Given the description of an element on the screen output the (x, y) to click on. 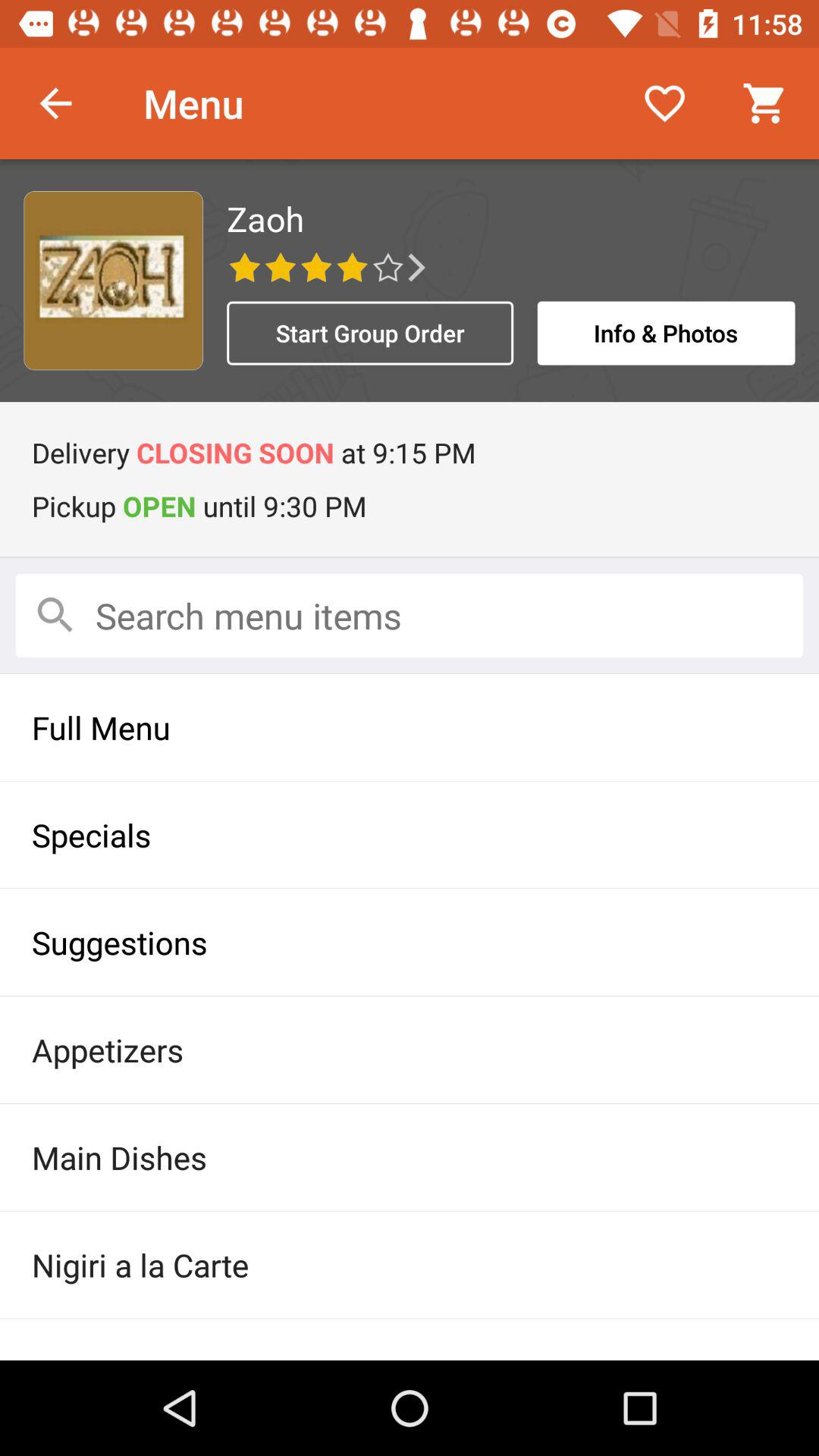
search items (409, 615)
